Given the description of an element on the screen output the (x, y) to click on. 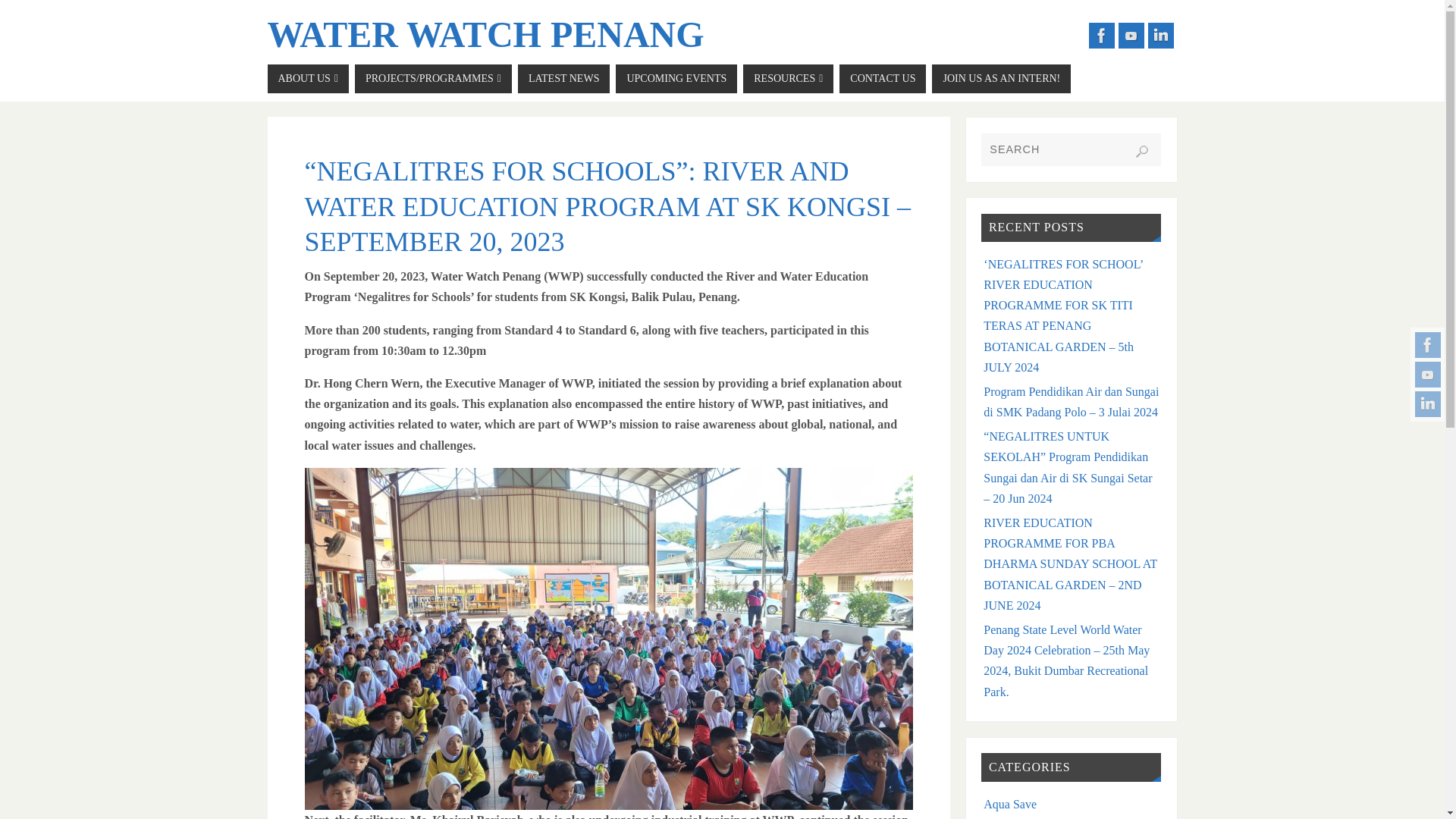
YouTube (1130, 35)
LATEST NEWS (564, 78)
LinkedIn (1160, 35)
YouTube (1428, 374)
RESOURCES (787, 78)
WATER WATCH PENANG (484, 34)
LinkedIn (1428, 403)
UPCOMING EVENTS (675, 78)
Water Watch Penang (484, 34)
Facebook (1428, 344)
ABOUT US (307, 78)
Facebook (1102, 35)
